Given the description of an element on the screen output the (x, y) to click on. 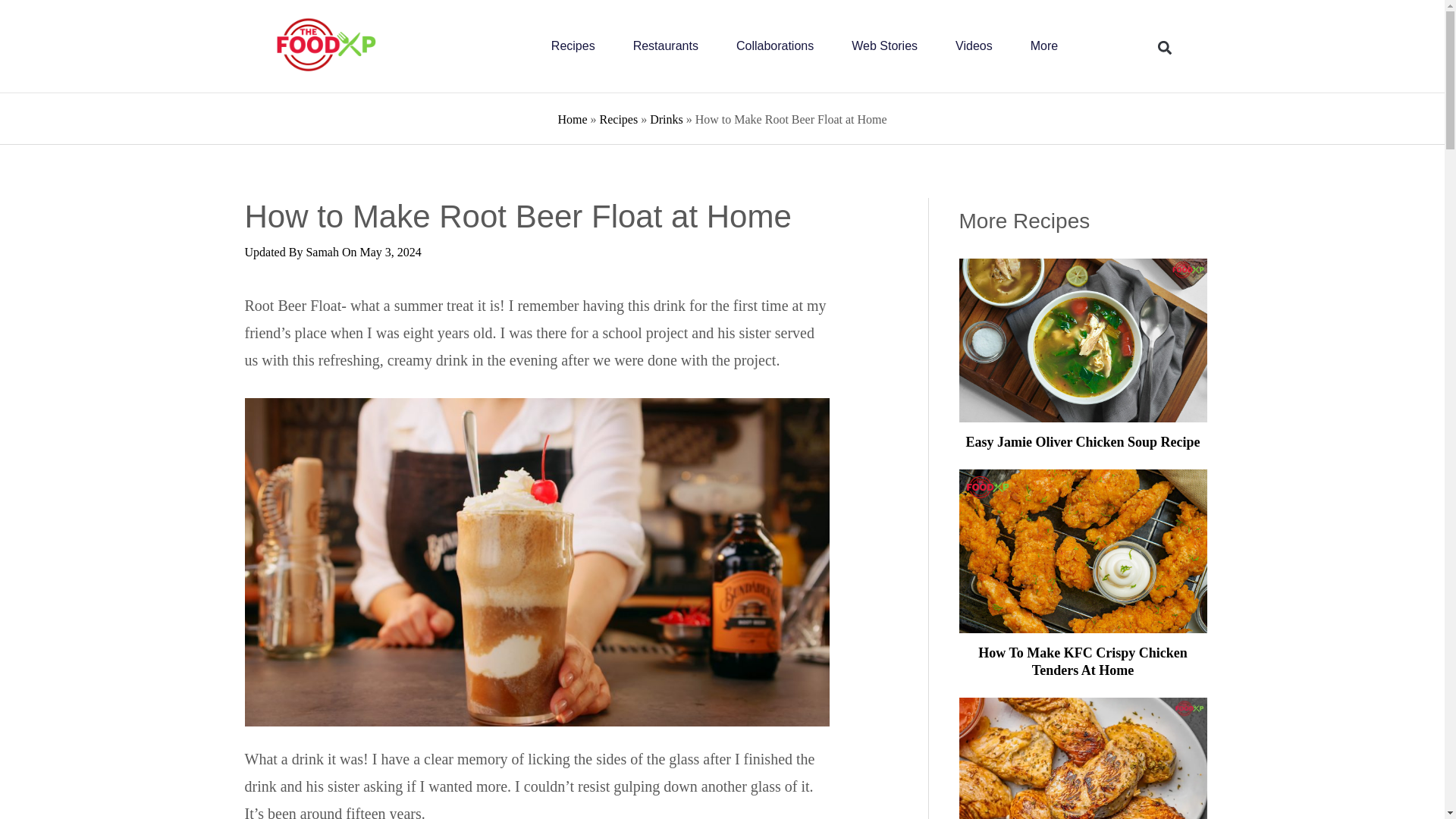
Collaborations (774, 45)
Videos (973, 45)
Restaurants (665, 45)
Web Stories (884, 45)
Recipes (573, 45)
